Given the description of an element on the screen output the (x, y) to click on. 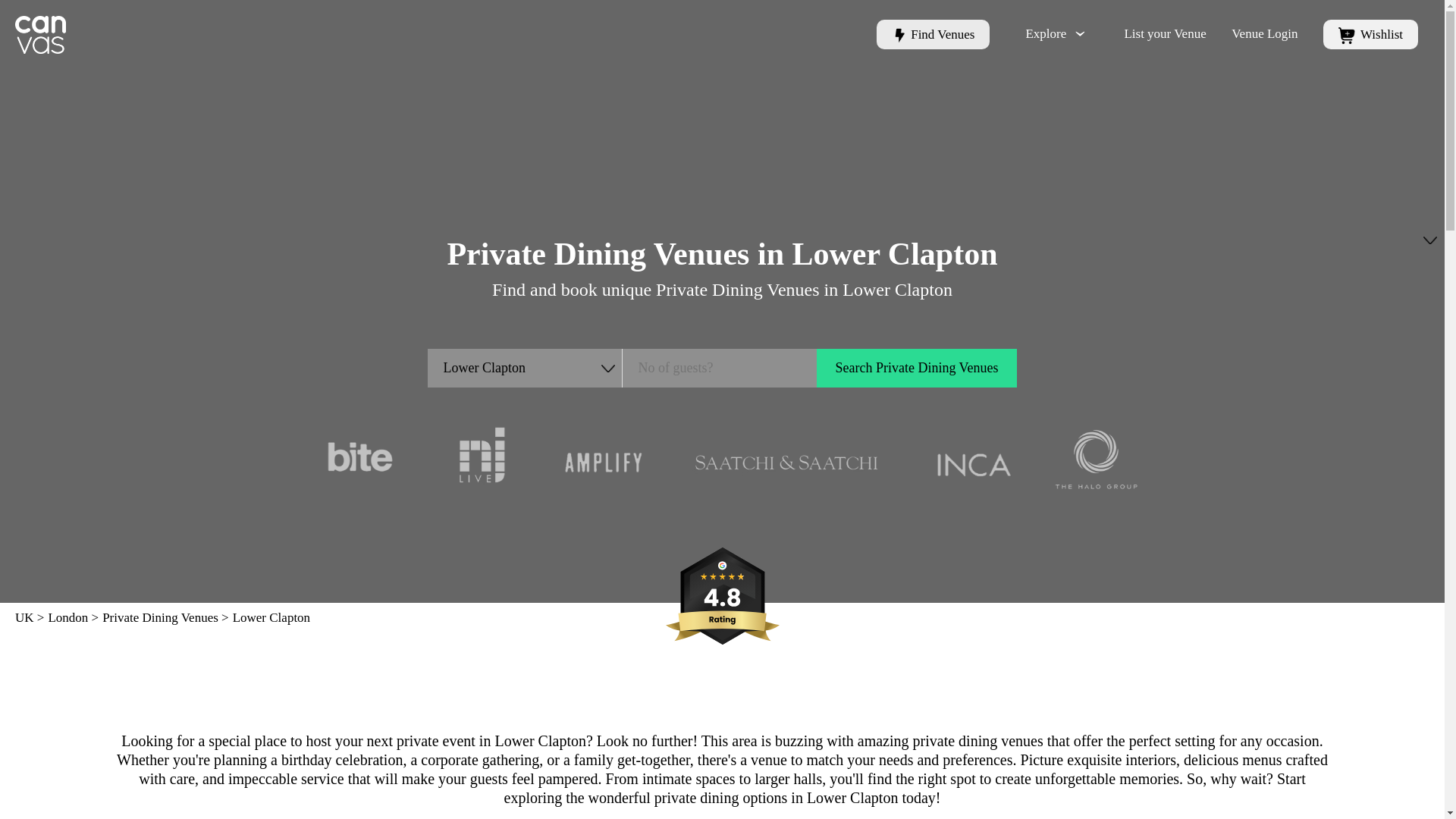
Lower Clapton (525, 367)
Find Venues (933, 34)
Venue Login (1264, 33)
List your Venue (1164, 33)
Wishlist (1370, 34)
